Given the description of an element on the screen output the (x, y) to click on. 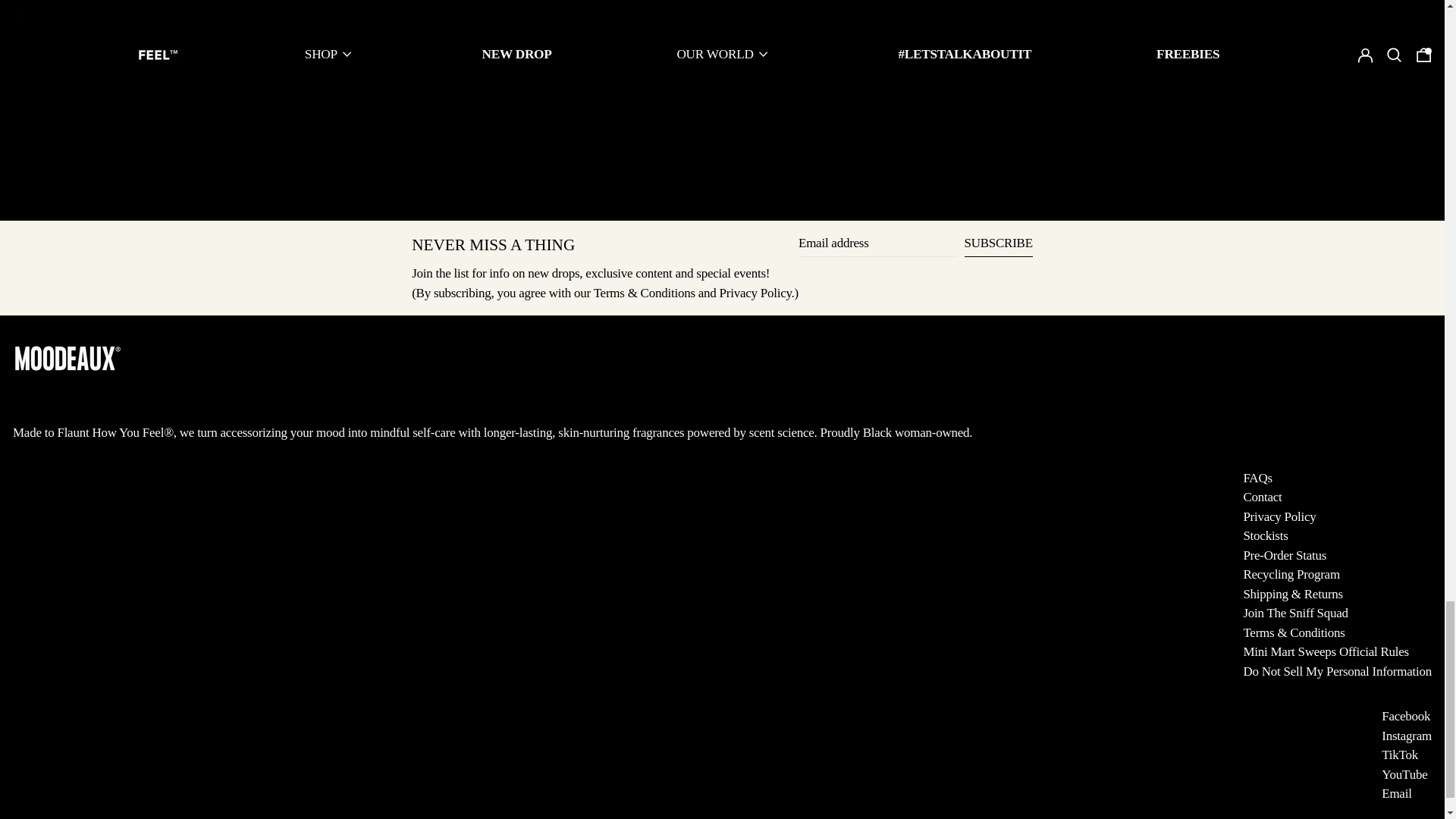
Privacy Policy (755, 292)
